Given the description of an element on the screen output the (x, y) to click on. 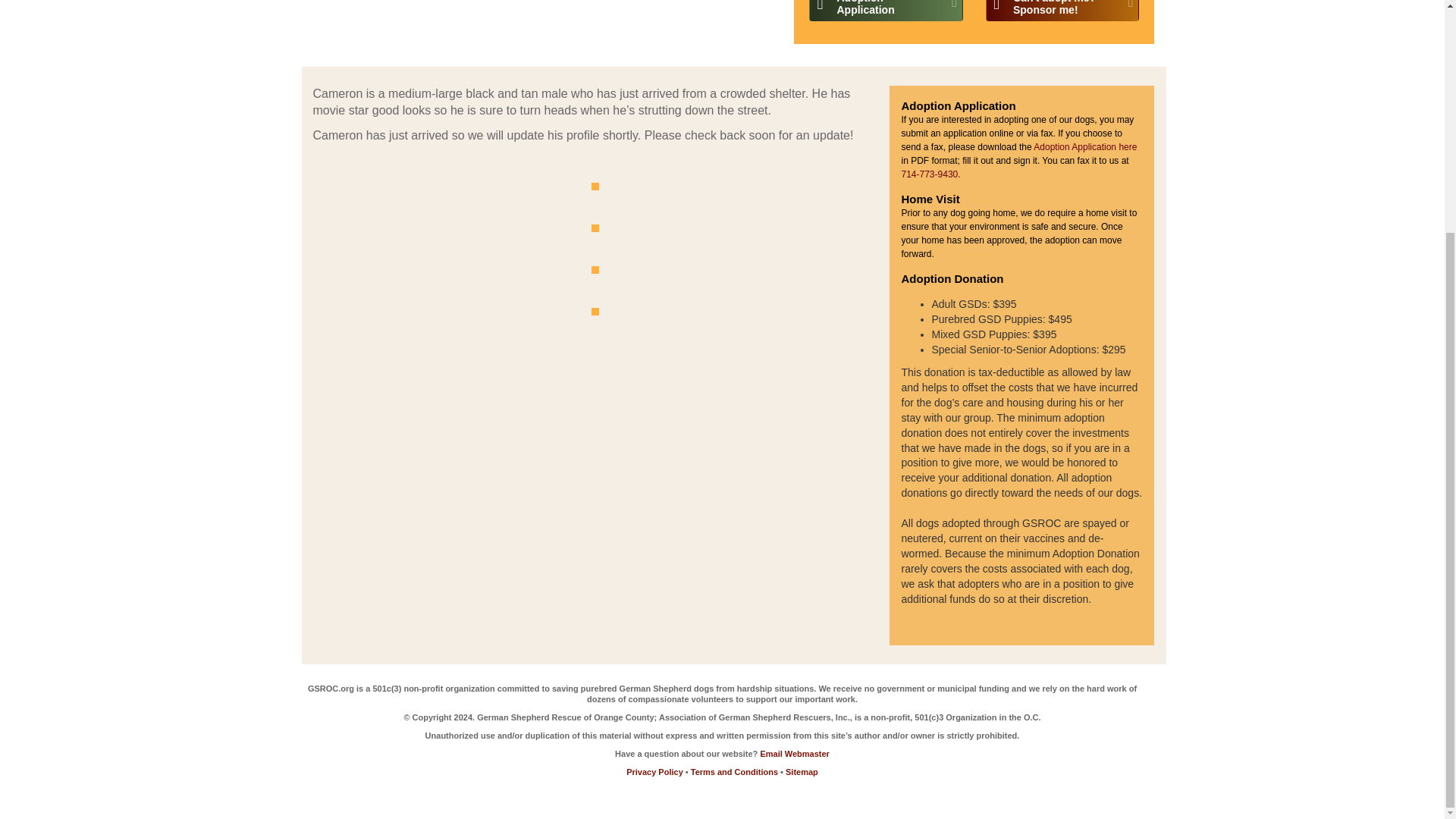
Email Webmaster (1062, 10)
Adoption Application here (794, 753)
714-773-9430 (1085, 146)
Sitemap (929, 173)
Privacy Policy (885, 10)
Terms and Conditions (802, 771)
